Given the description of an element on the screen output the (x, y) to click on. 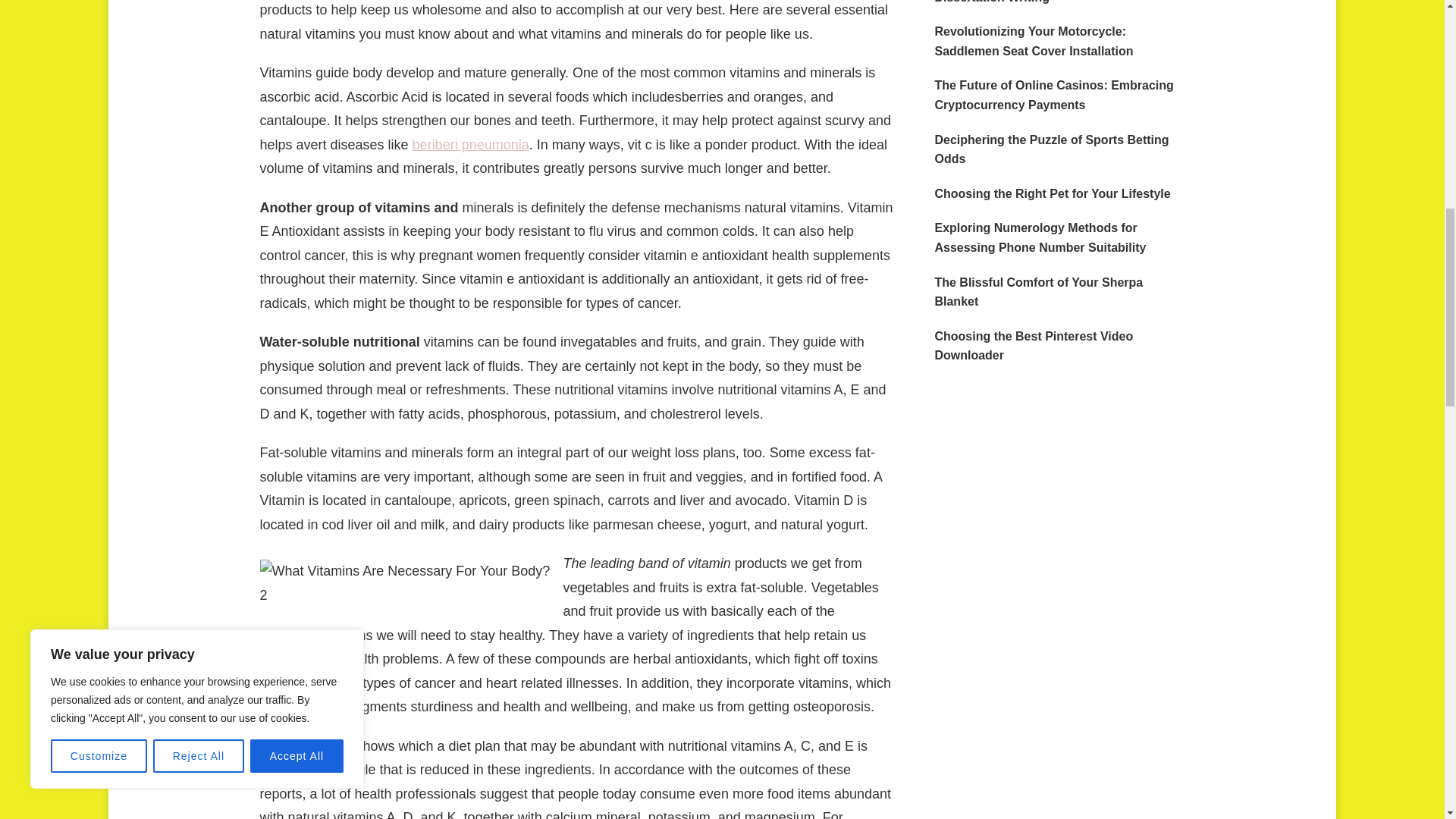
beriberi pneumonia (470, 144)
